Given the description of an element on the screen output the (x, y) to click on. 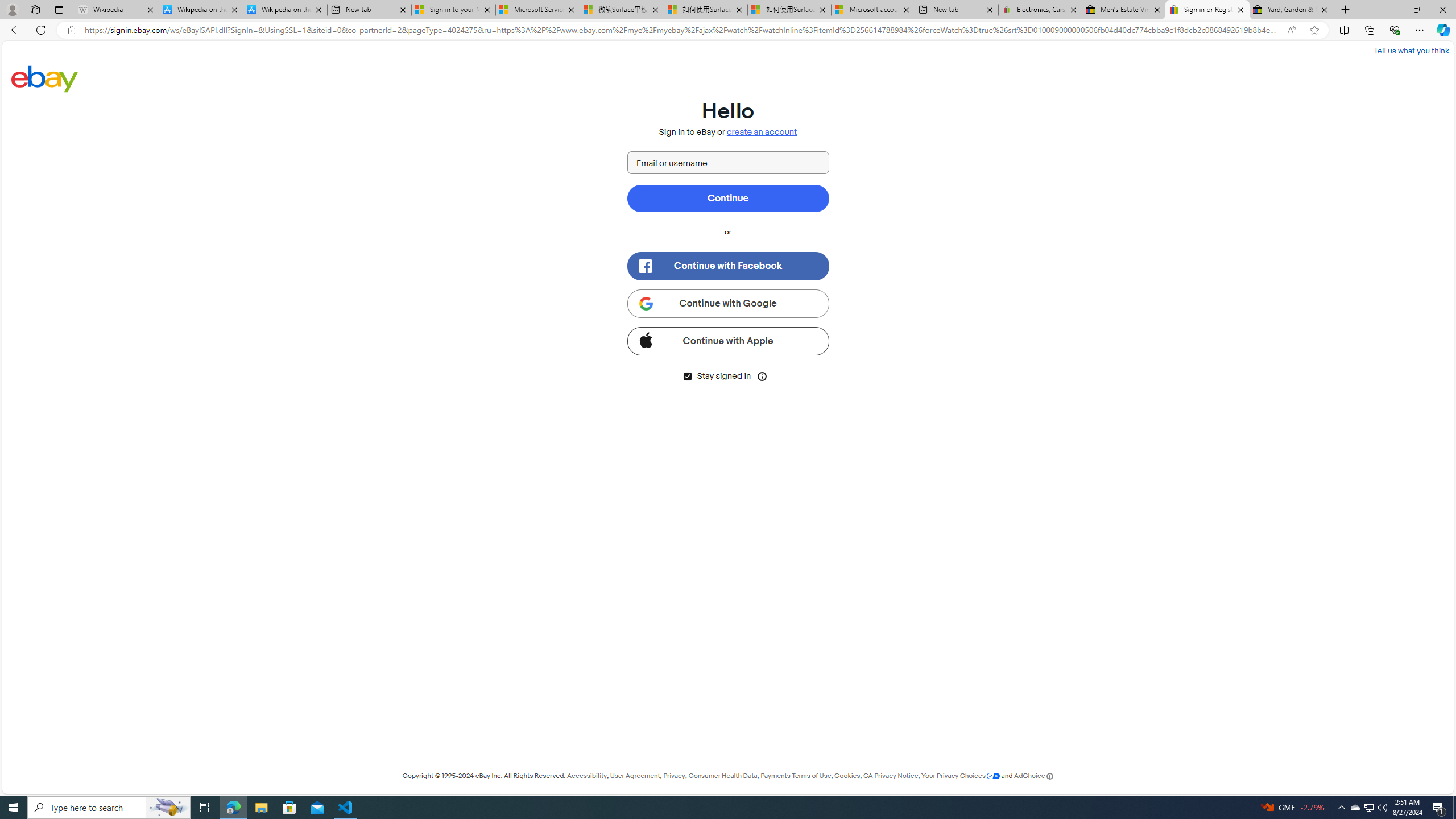
Sign in to your Microsoft account (453, 9)
AdChoice (1033, 775)
Payments Terms of Use (795, 775)
Your Privacy Choices (960, 775)
